Given the description of an element on the screen output the (x, y) to click on. 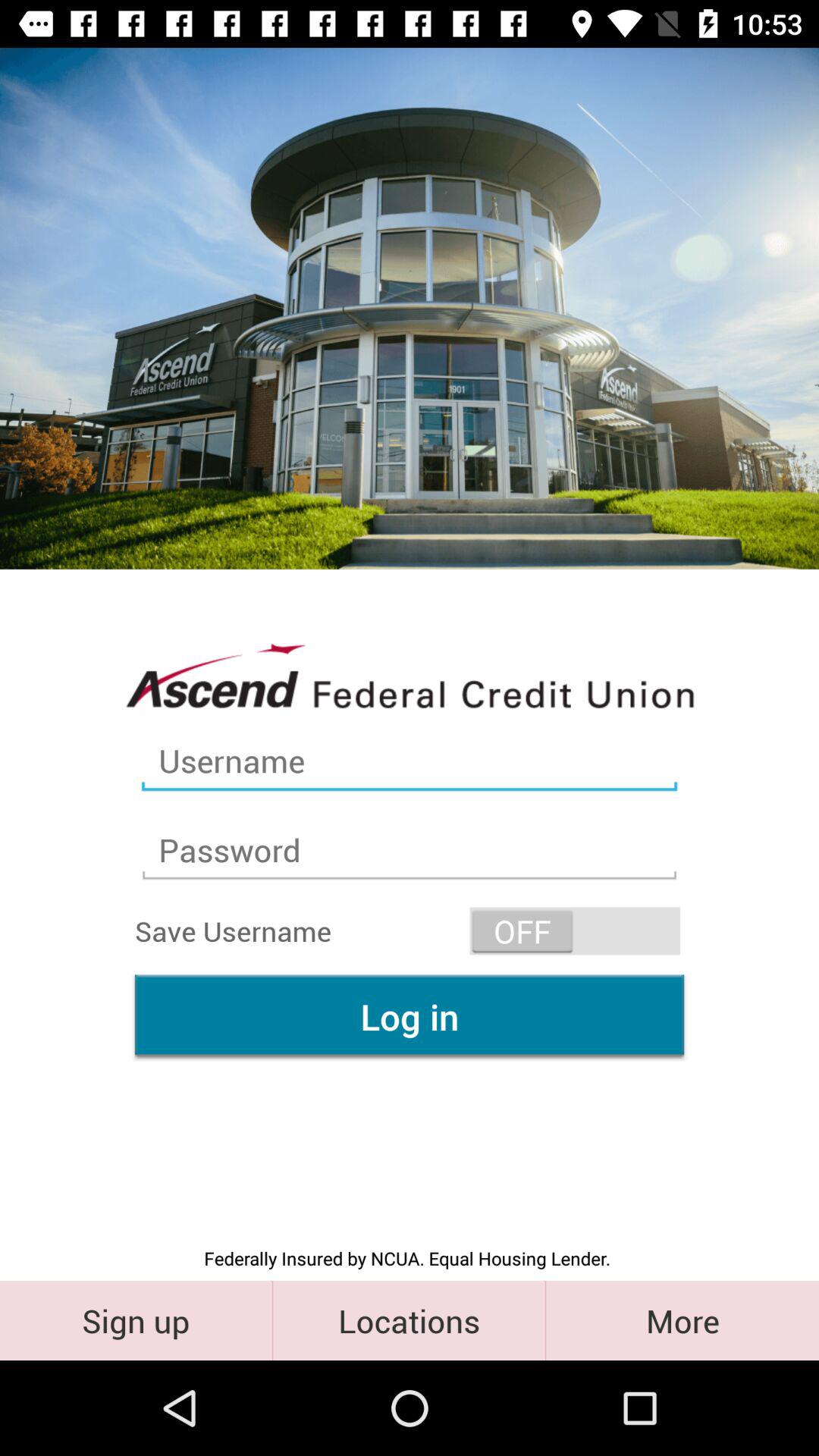
flip to the sign up item (136, 1320)
